Given the description of an element on the screen output the (x, y) to click on. 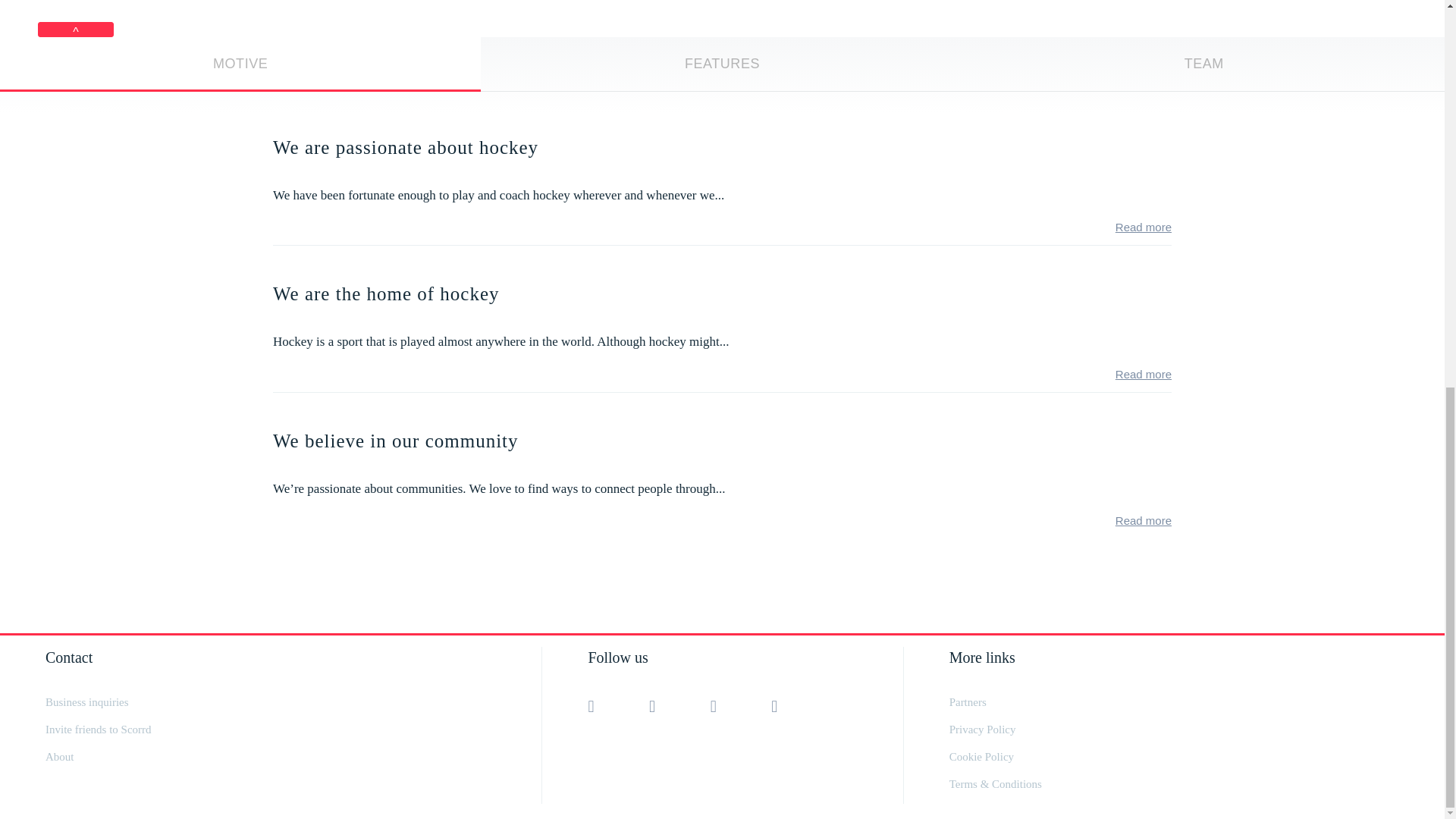
What (722, 63)
Read more (1143, 226)
Read more (1143, 373)
FEATURES (722, 63)
Why (239, 63)
MOTIVE (240, 63)
Team (1204, 63)
MOTIVE (239, 63)
Read more (1143, 520)
FEATURES (721, 63)
